Given the description of an element on the screen output the (x, y) to click on. 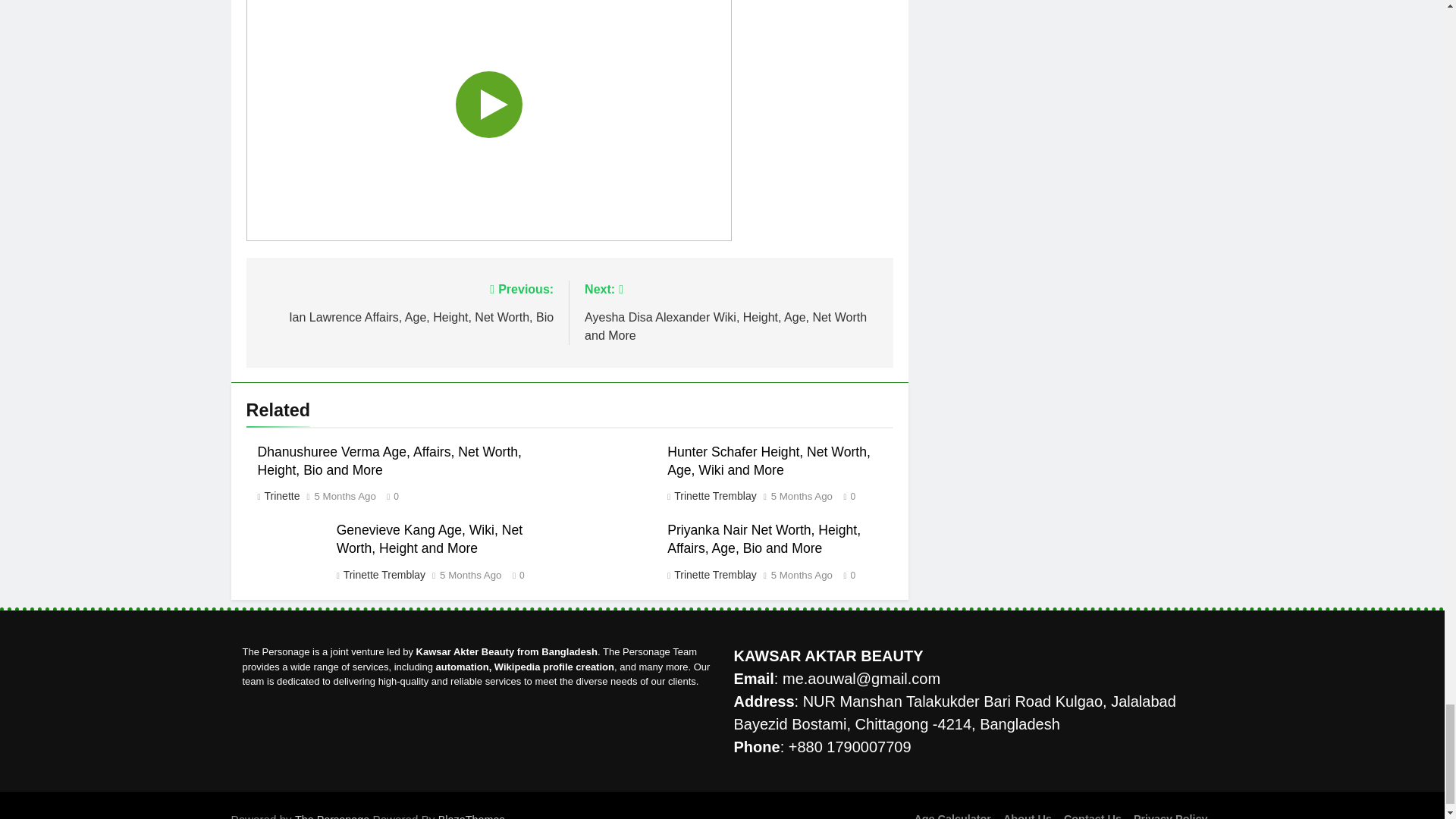
5 Months Ago (801, 496)
Trinette (281, 495)
0 (845, 495)
5 Months Ago (344, 496)
Hunter Schafer Height, Net Worth, Age, Wiki and More (768, 460)
Genevieve Kang Age, Wiki, Net Worth, Height and More (429, 539)
Trinette Tremblay (406, 301)
